Given the description of an element on the screen output the (x, y) to click on. 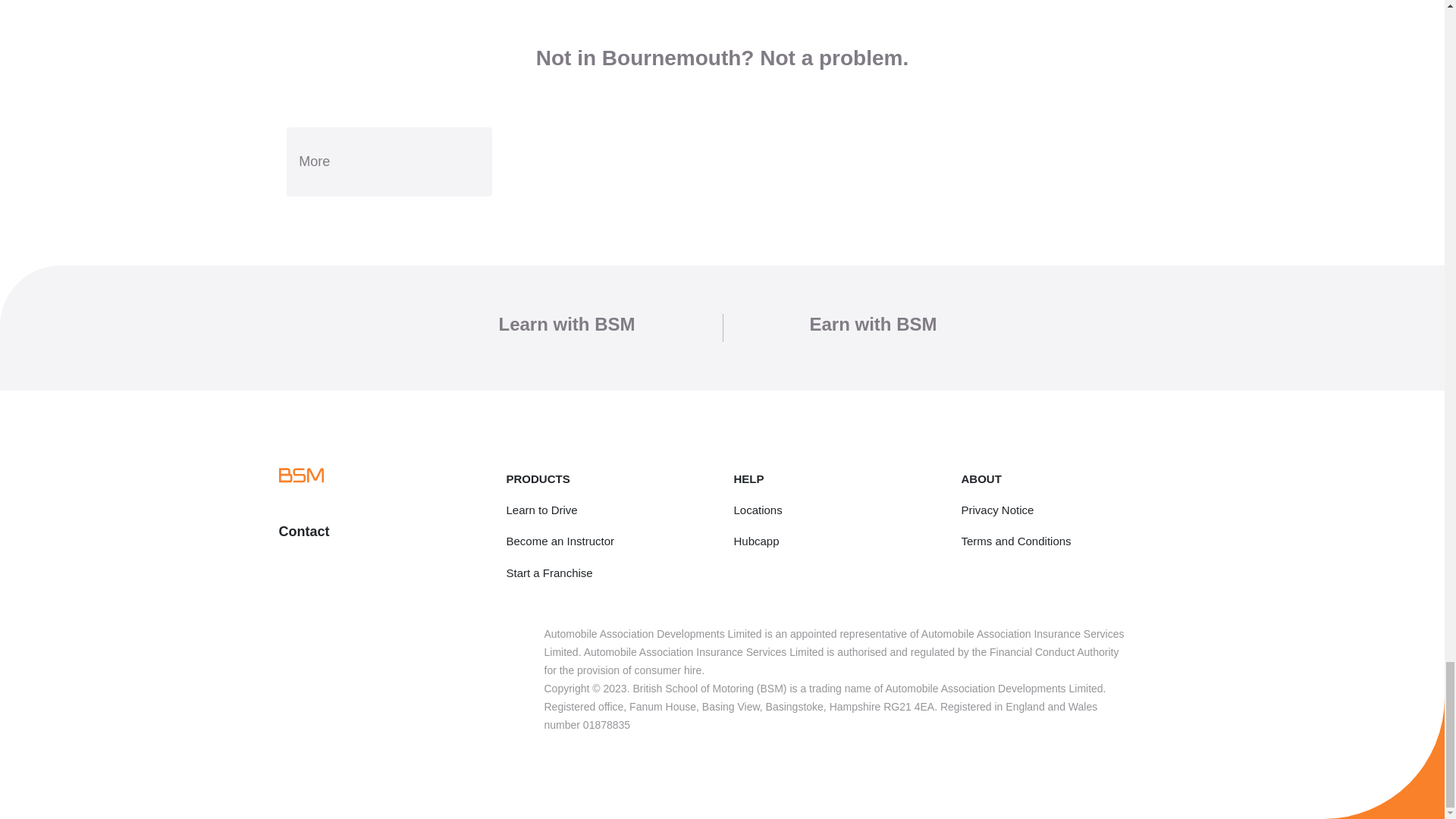
Learn to Drive (542, 509)
Become an Instructor (560, 540)
Learn with BSM (565, 323)
Locations (758, 509)
Earn with BSM (873, 323)
Start a Franchise (549, 571)
More (389, 161)
Contact (304, 531)
